Given the description of an element on the screen output the (x, y) to click on. 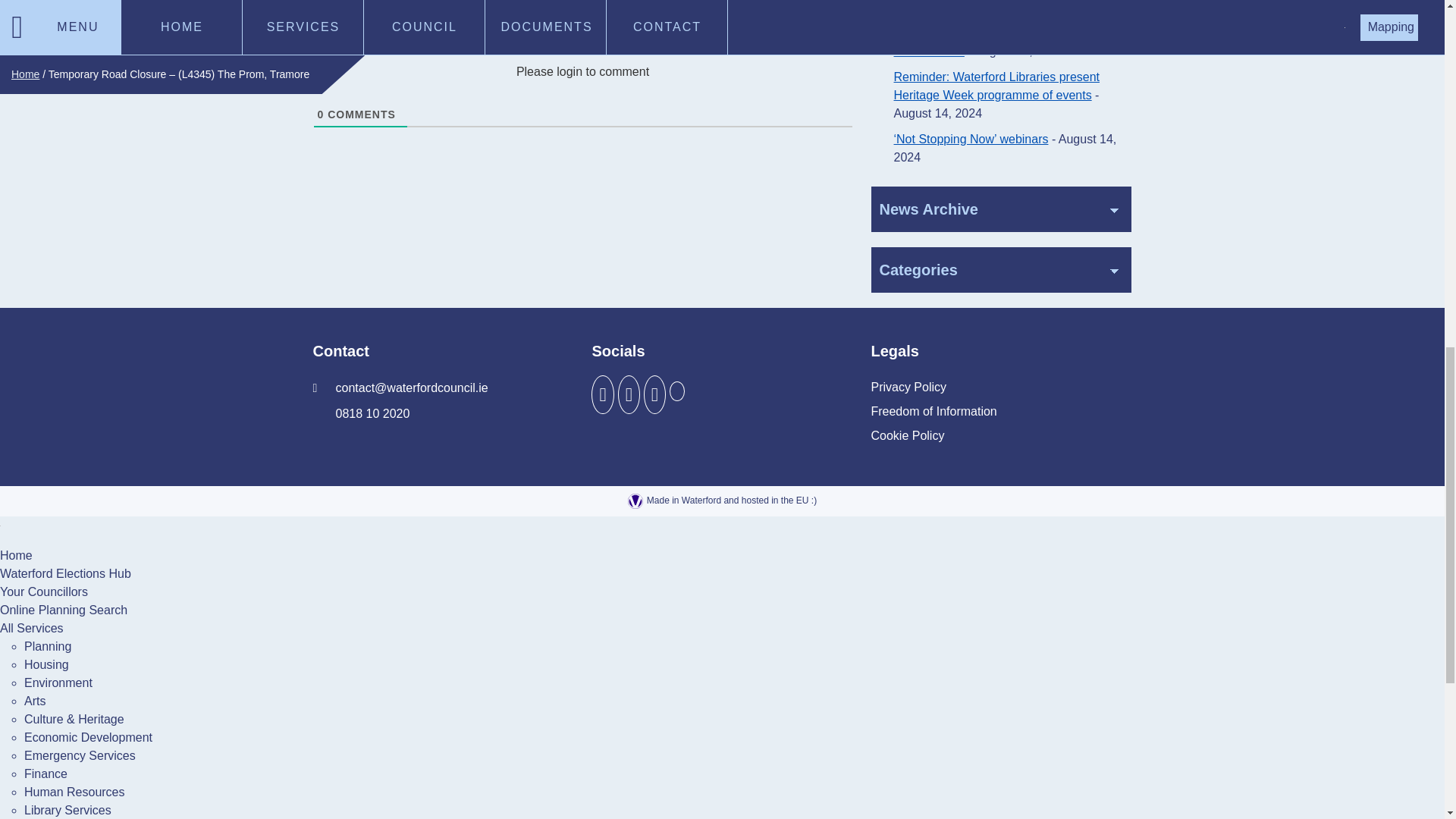
Ballynaparka Riverbank Maintenance: Public Notice (995, 41)
0818 10 2020 (361, 413)
Cookie Policy (906, 435)
Freedom of Information (932, 411)
Login (834, 34)
Privacy Policy (908, 387)
